Given the description of an element on the screen output the (x, y) to click on. 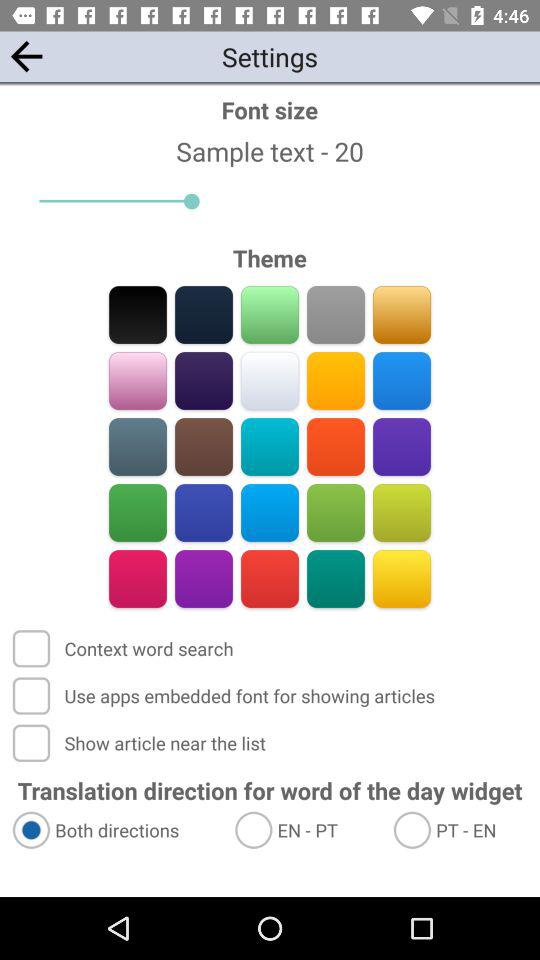
select theme color (137, 446)
